Given the description of an element on the screen output the (x, y) to click on. 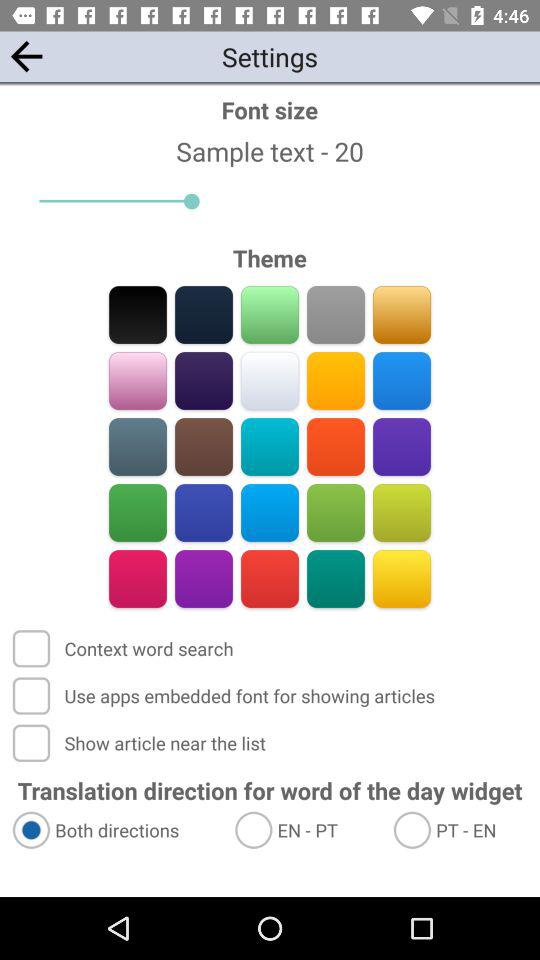
select theme color (137, 446)
